Given the description of an element on the screen output the (x, y) to click on. 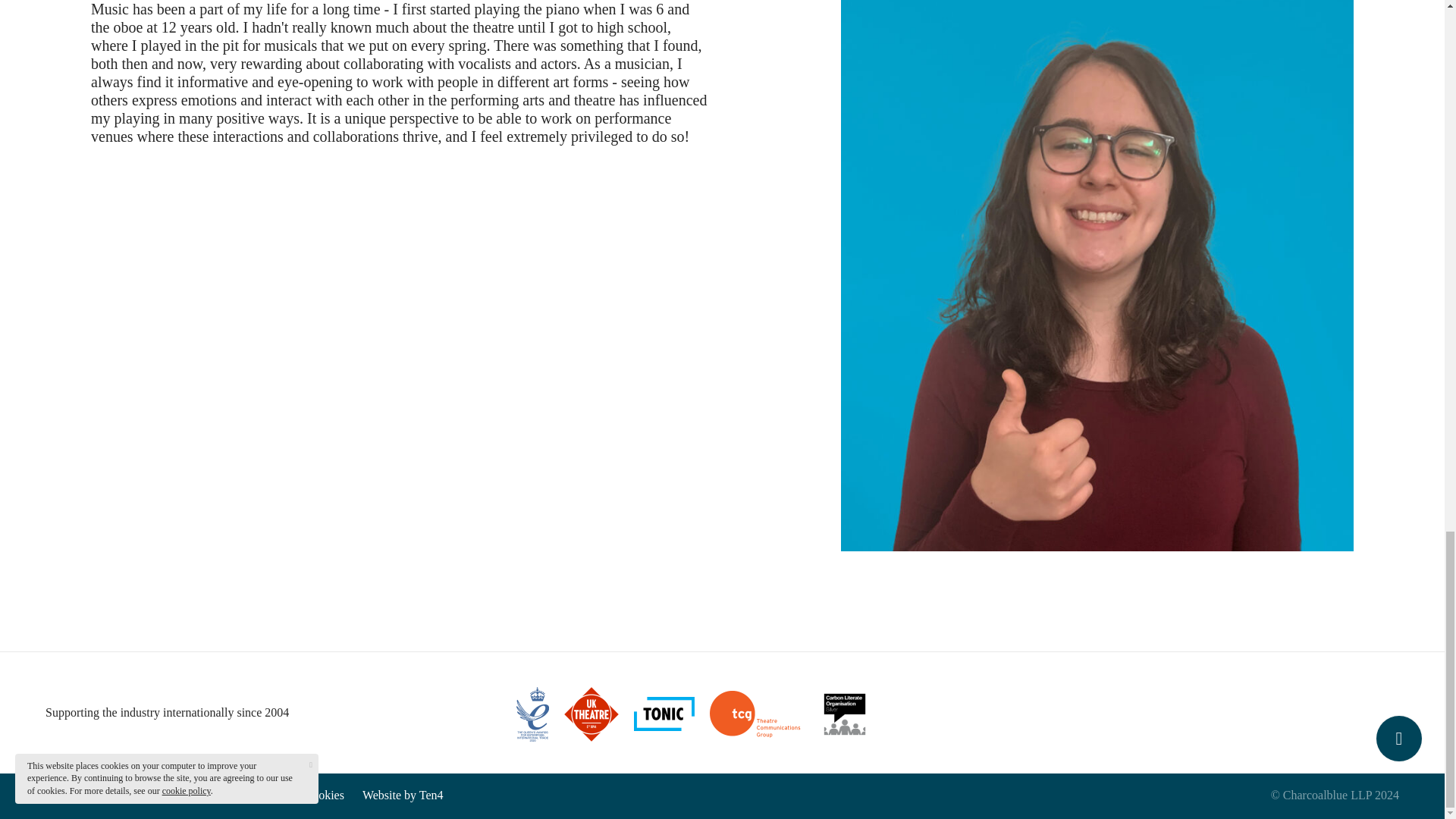
Contact (212, 794)
Cookies (323, 794)
Newsletter (148, 794)
Website by Ten4 (403, 794)
Privacy (267, 794)
